Given the description of an element on the screen output the (x, y) to click on. 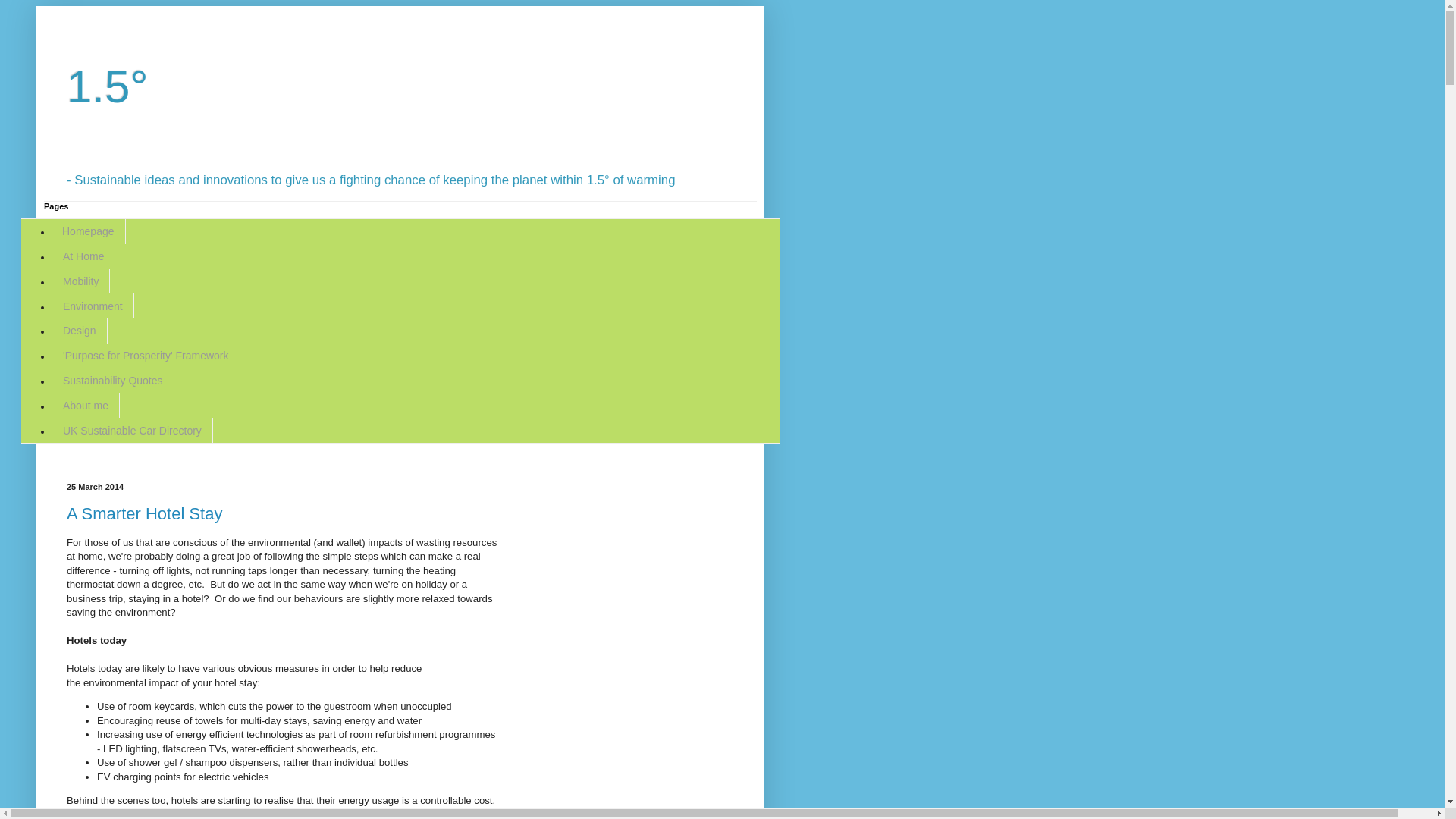
Environment Element type: text (92, 305)
Mobility Element type: text (80, 281)
Design Element type: text (79, 330)
A Smarter Hotel Stay Element type: text (144, 513)
Sustainability Quotes Element type: text (112, 380)
At Home Element type: text (83, 256)
'Purpose for Prosperity' Framework Element type: text (145, 355)
About me Element type: text (85, 404)
Homepage Element type: text (88, 231)
UK Sustainable Car Directory Element type: text (132, 429)
